Given the description of an element on the screen output the (x, y) to click on. 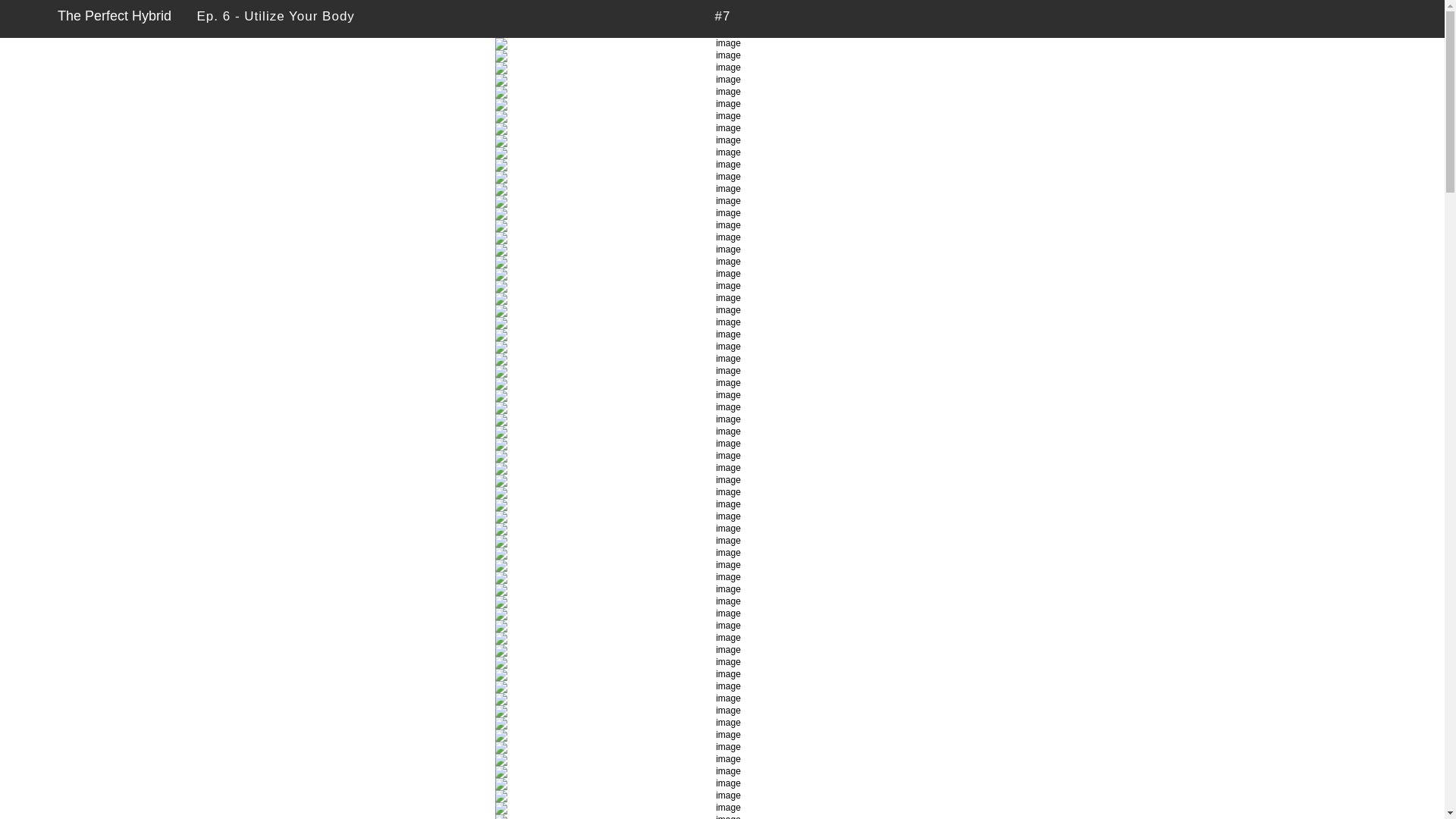
The Perfect Hybrid (114, 16)
Previous Episode (689, 18)
Facebook (1368, 18)
WEBTOON (28, 18)
Ep. 6 - Utilize Your Body (275, 16)
Next Episode (756, 18)
Next Episode (756, 18)
Previous Episode (689, 18)
URL COPY (1422, 18)
Twitter (1395, 18)
The Perfect Hybrid (114, 16)
Subscribe (1342, 18)
